Given the description of an element on the screen output the (x, y) to click on. 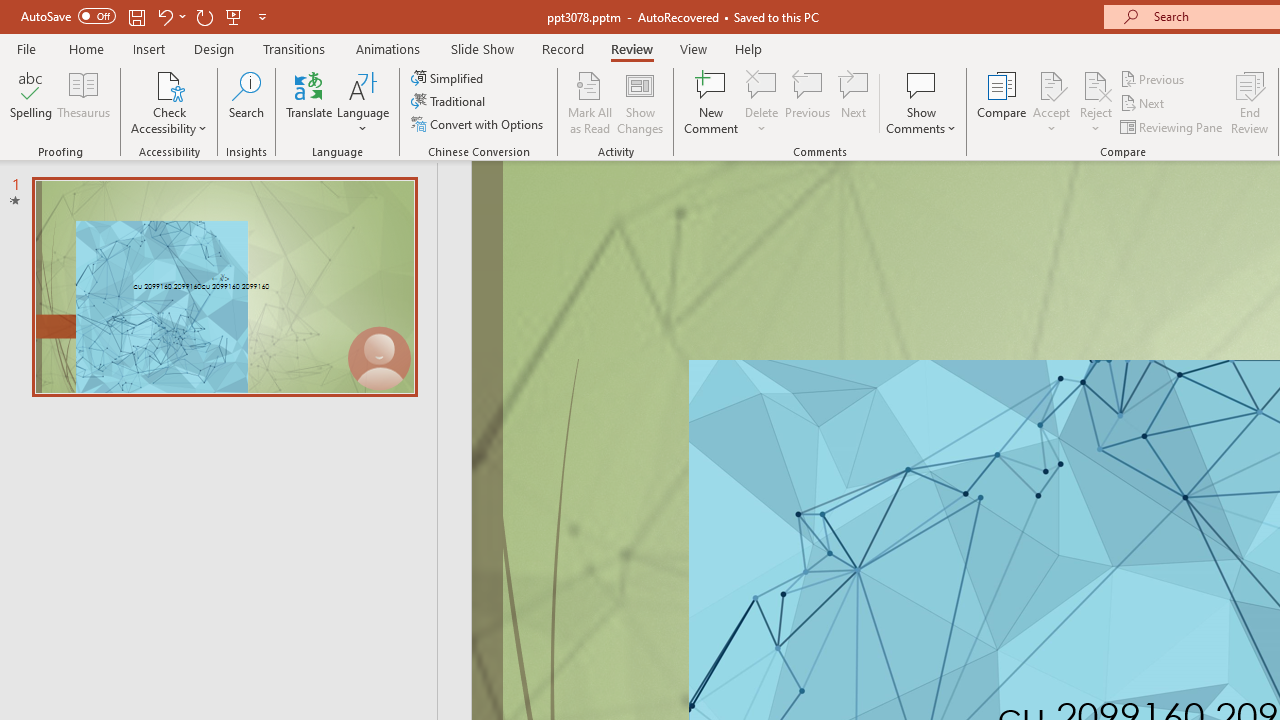
Language (363, 102)
Compare (1002, 102)
Reviewing Pane (1172, 126)
Reject (1096, 102)
Thesaurus... (83, 102)
Check Accessibility (169, 84)
Insert (149, 48)
Show Comments (921, 84)
New Comment (711, 102)
Mark All as Read (589, 102)
Delete (762, 102)
Show Changes (639, 102)
Traditional (449, 101)
